Given the description of an element on the screen output the (x, y) to click on. 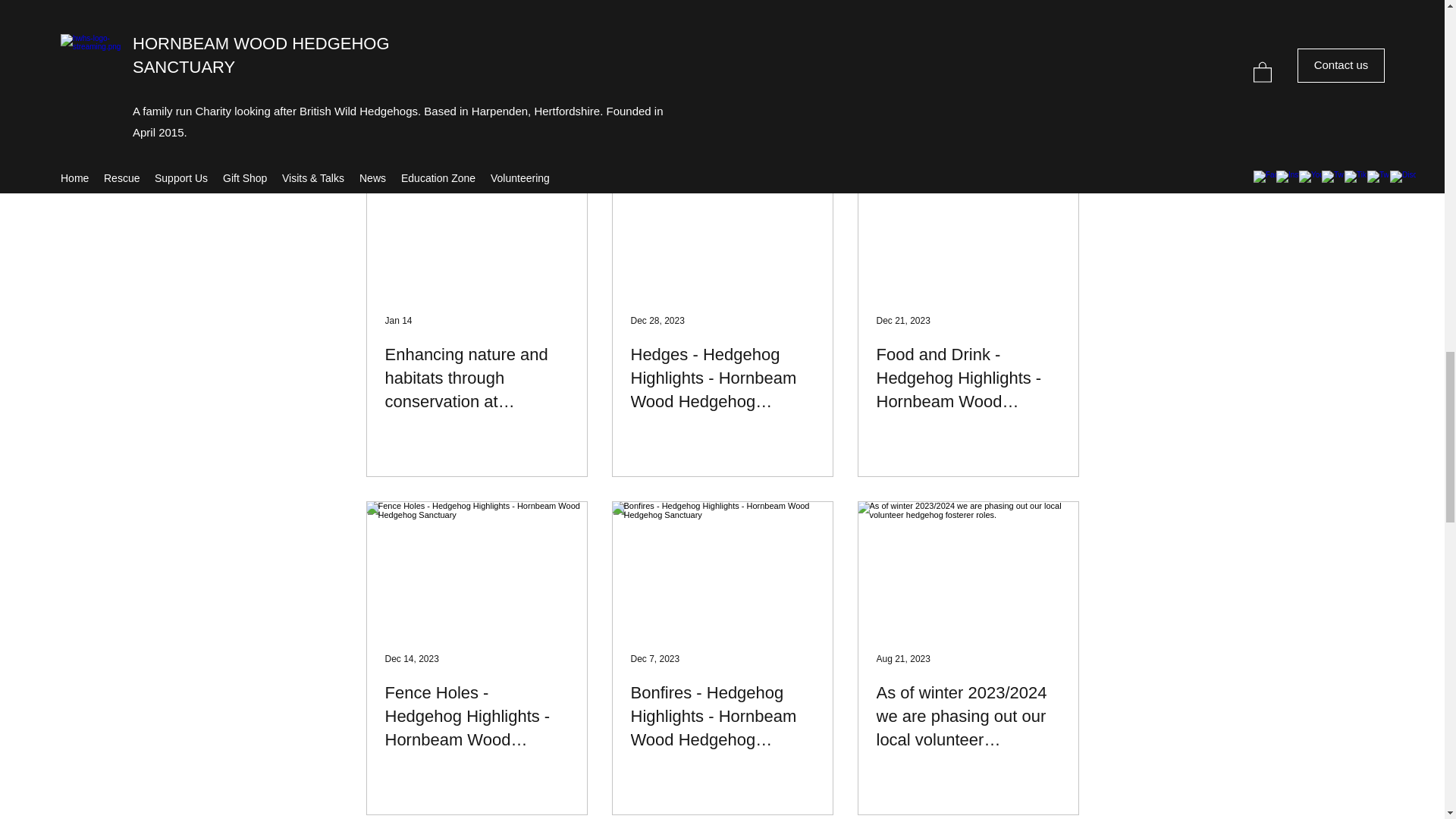
Jan 14 (398, 320)
Dec 21, 2023 (903, 320)
Dec 28, 2023 (657, 320)
Dec 14, 2023 (412, 658)
Dec 7, 2023 (654, 658)
Aug 21, 2023 (903, 658)
